Given the description of an element on the screen output the (x, y) to click on. 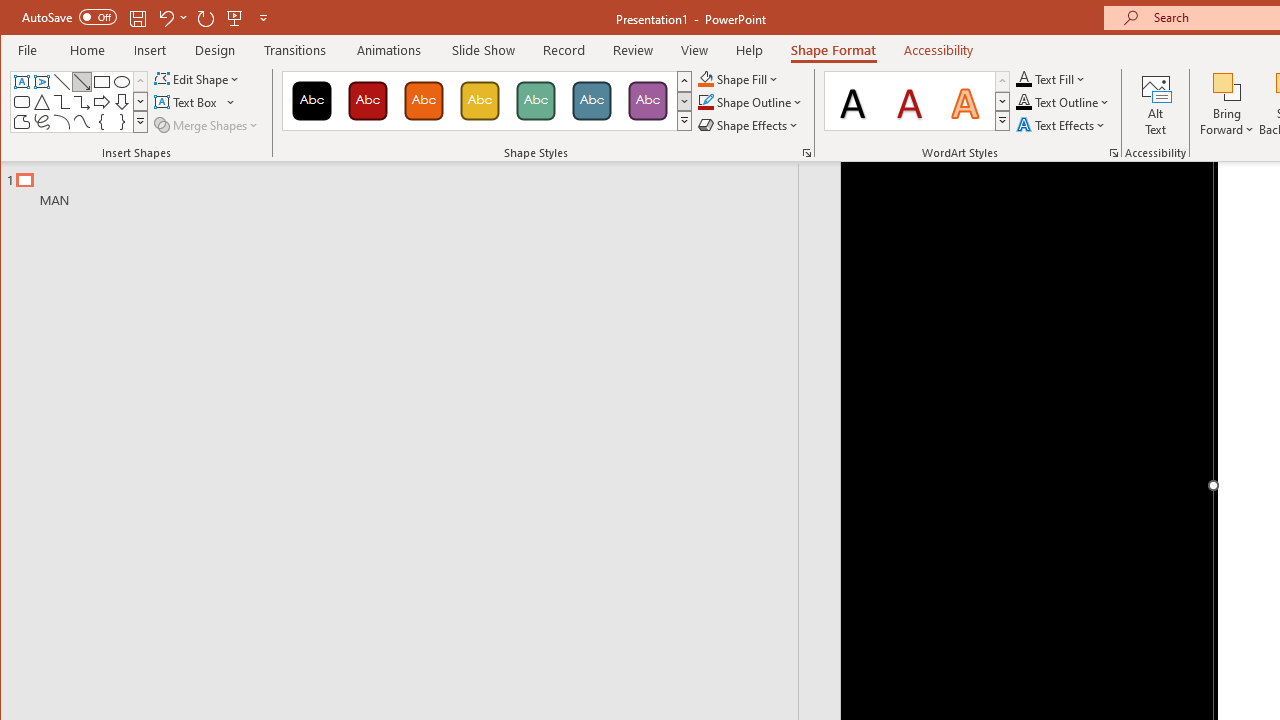
Text Outline (1062, 101)
Bring Forward (1227, 104)
Shapes (140, 121)
Line Arrow (81, 82)
Text Effects (1062, 124)
Colored Fill - Blue-Gray, Accent 5 (591, 100)
Isosceles Triangle (42, 102)
Merge Shapes (207, 124)
Colored Fill - Purple, Accent 6 (647, 100)
